Given the description of an element on the screen output the (x, y) to click on. 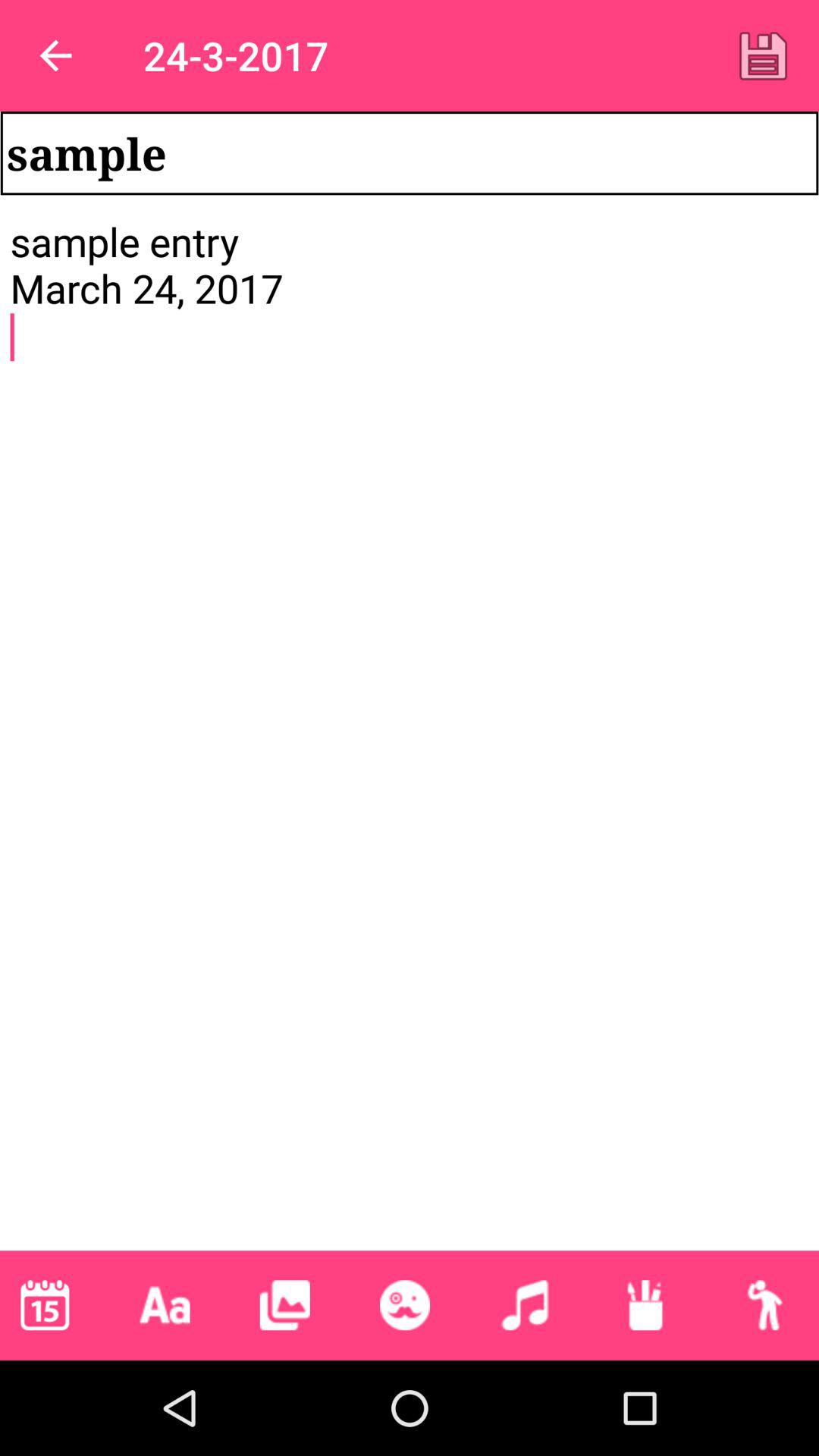
click item above the sample item (55, 55)
